Given the description of an element on the screen output the (x, y) to click on. 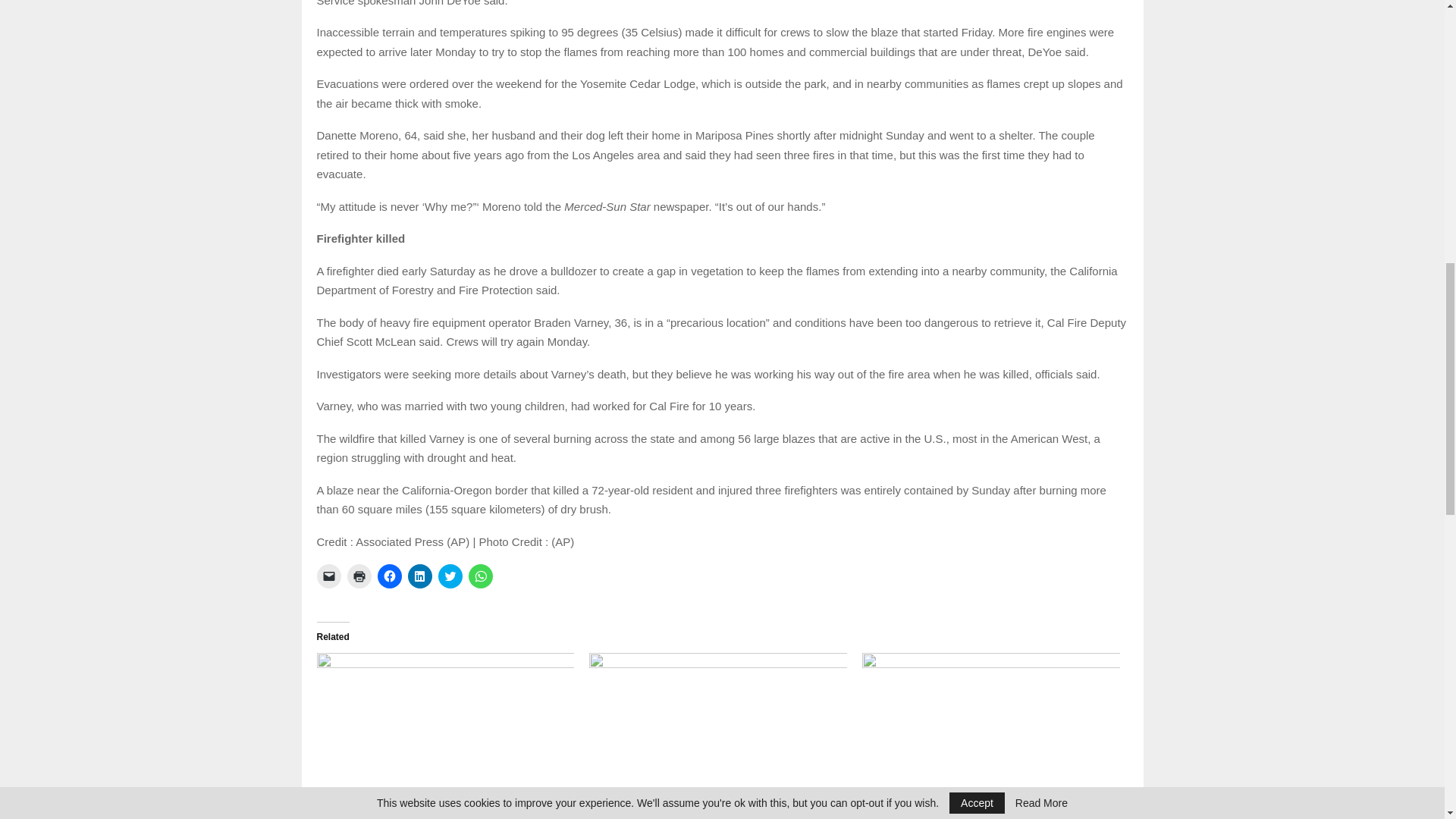
Click to print (359, 576)
Click to share on LinkedIn (419, 576)
Click to email a link to a friend (328, 576)
Click to share on Facebook (389, 576)
